Given the description of an element on the screen output the (x, y) to click on. 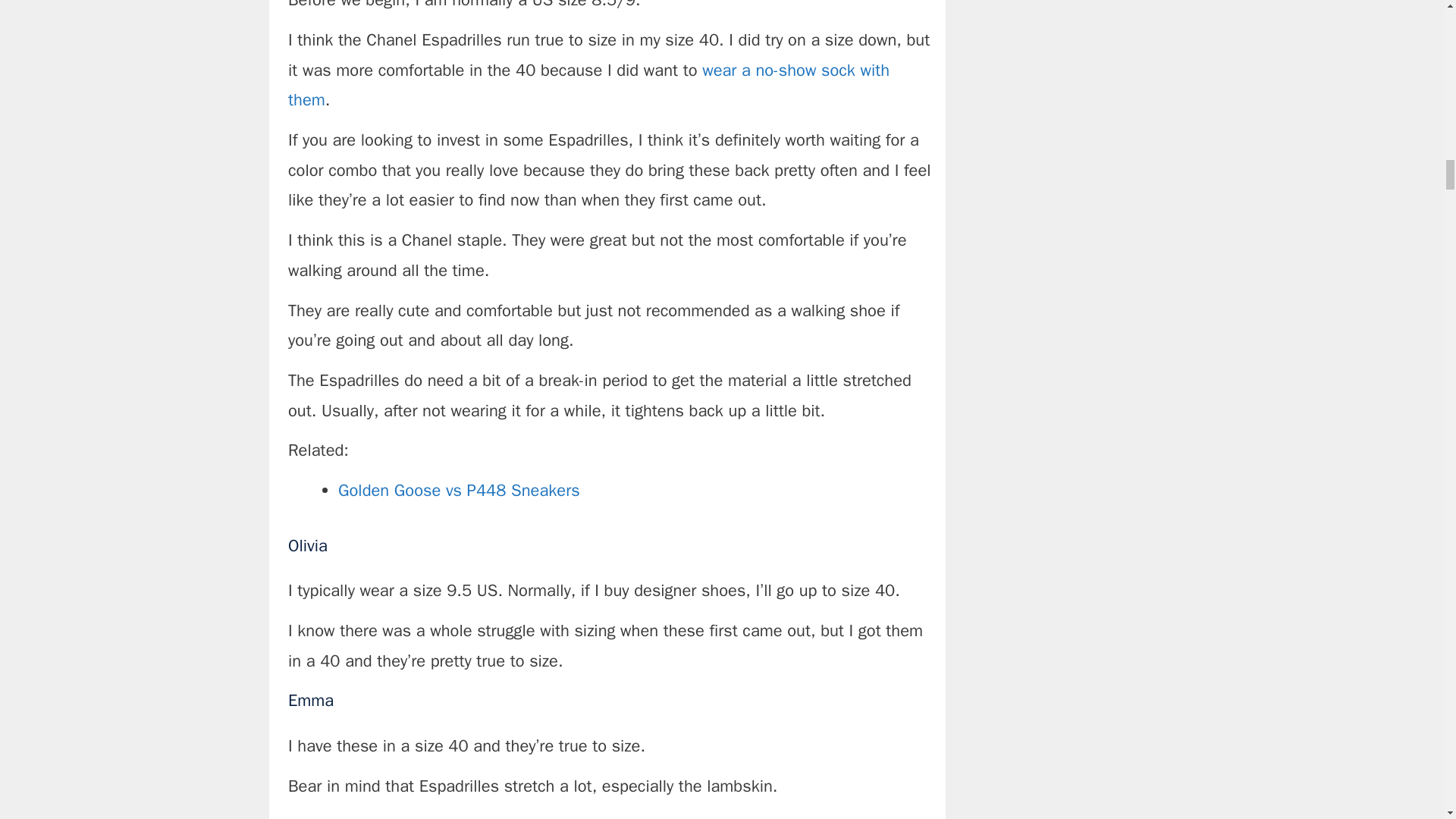
wear a no-show sock with them (588, 85)
Golden Goose vs P448 Sneakers (458, 490)
